Given the description of an element on the screen output the (x, y) to click on. 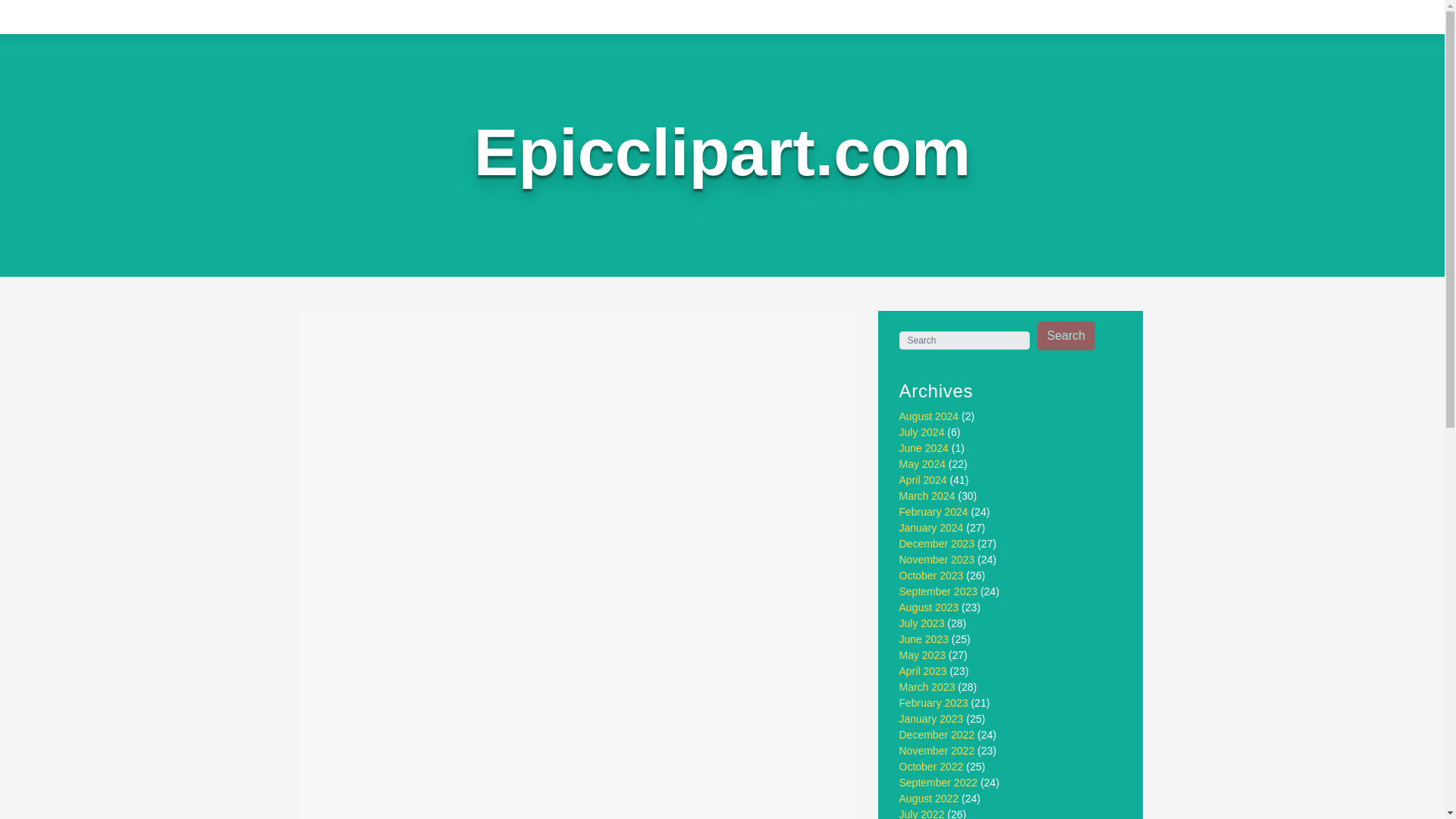
November 2023 (937, 559)
August 2024 (929, 416)
June 2023 (924, 639)
September 2023 (938, 591)
June 2024 (924, 448)
September 2022 (938, 782)
October 6, 2022 (424, 386)
April 2023 (923, 671)
February 2023 (933, 702)
July 2022 (921, 813)
Search (1066, 335)
July 2023 (921, 623)
November 2022 (937, 750)
January 2024 (931, 527)
February 2024 (933, 511)
